Given the description of an element on the screen output the (x, y) to click on. 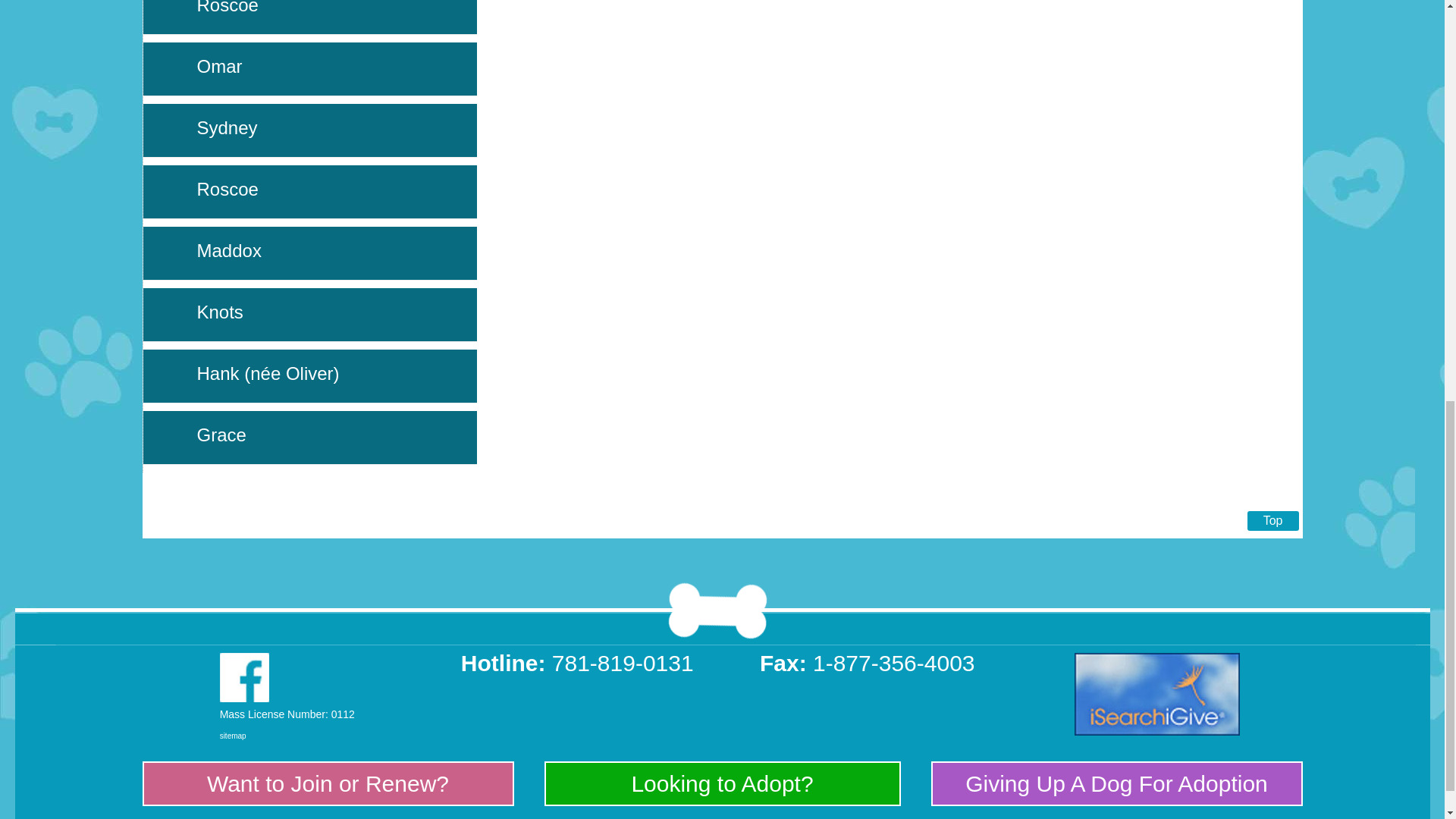
Roscoe (227, 189)
Looking to Adopt? (721, 783)
Omar (219, 66)
Knots (219, 312)
Roscoe (227, 7)
Giving Up A Dog For Adoption (1116, 783)
Maddox (229, 250)
Top (1272, 520)
Want to Join or Renew? (327, 783)
Sydney (226, 127)
Grace (221, 435)
sitemap (232, 736)
